Given the description of an element on the screen output the (x, y) to click on. 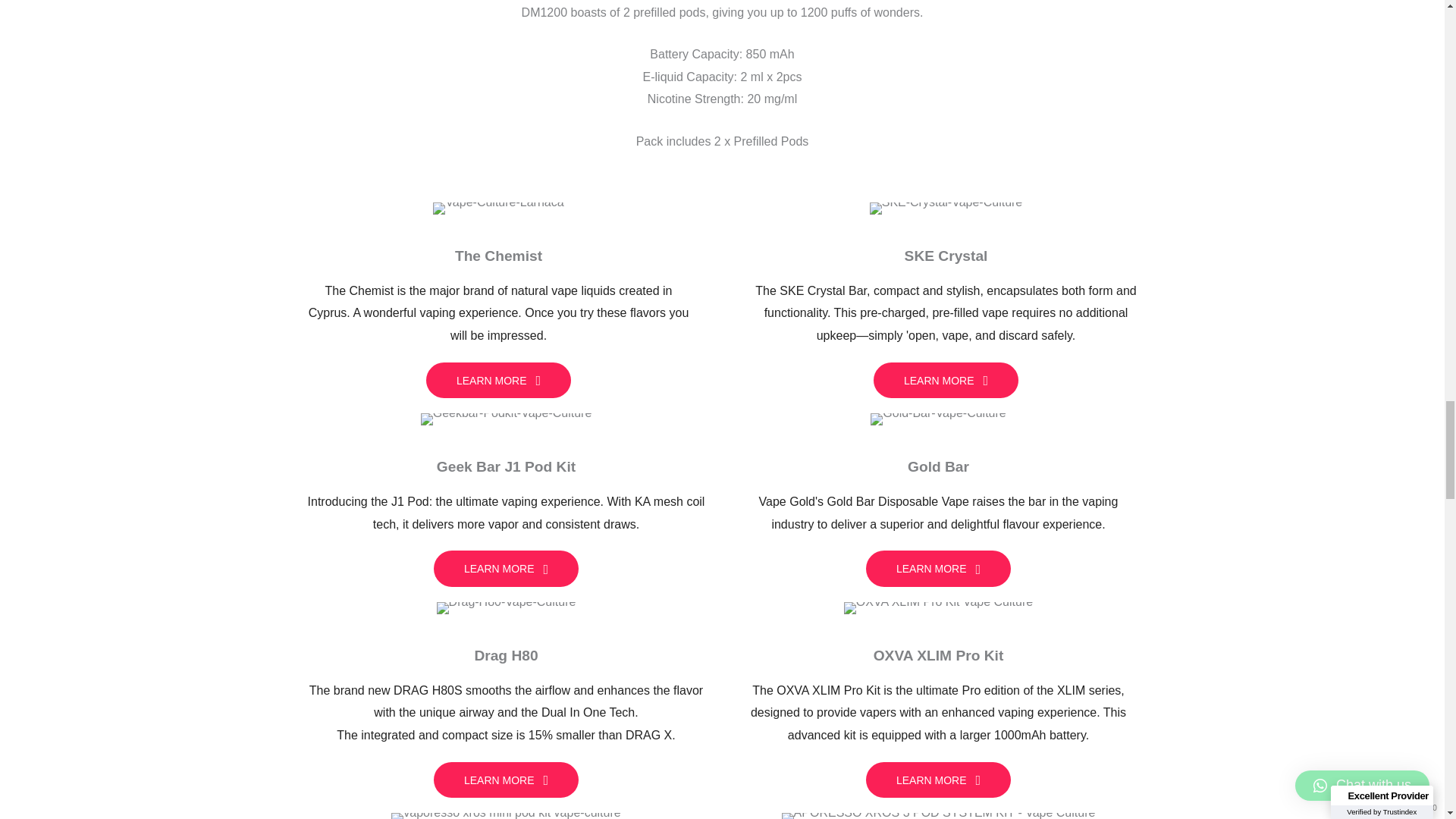
LEARN MORE (498, 380)
LEARN MORE (938, 780)
LEARN MORE (938, 568)
LEARN MORE (505, 568)
Vape-Culture-Larnaca (497, 208)
LEARN MORE (505, 780)
LEARN MORE (945, 380)
